Given the description of an element on the screen output the (x, y) to click on. 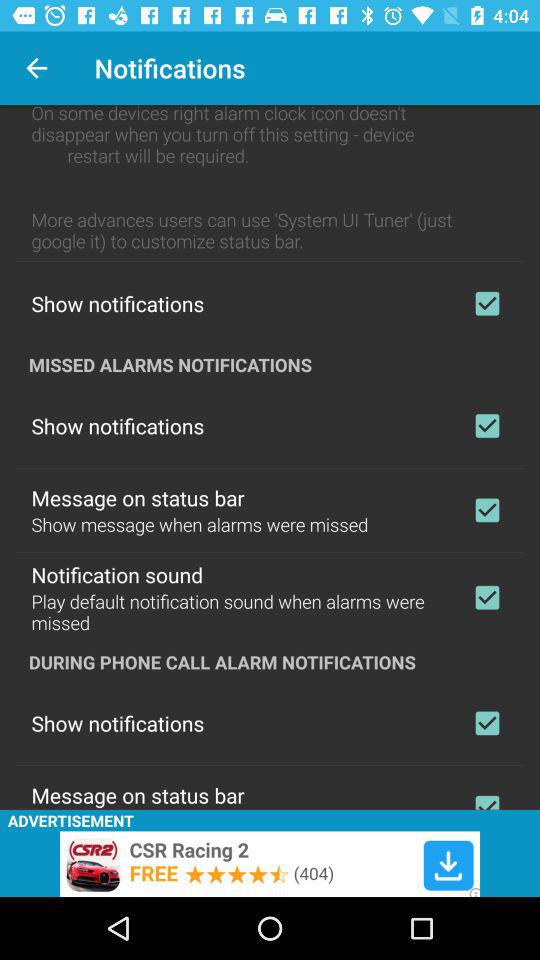
go to tik box (487, 303)
